Given the description of an element on the screen output the (x, y) to click on. 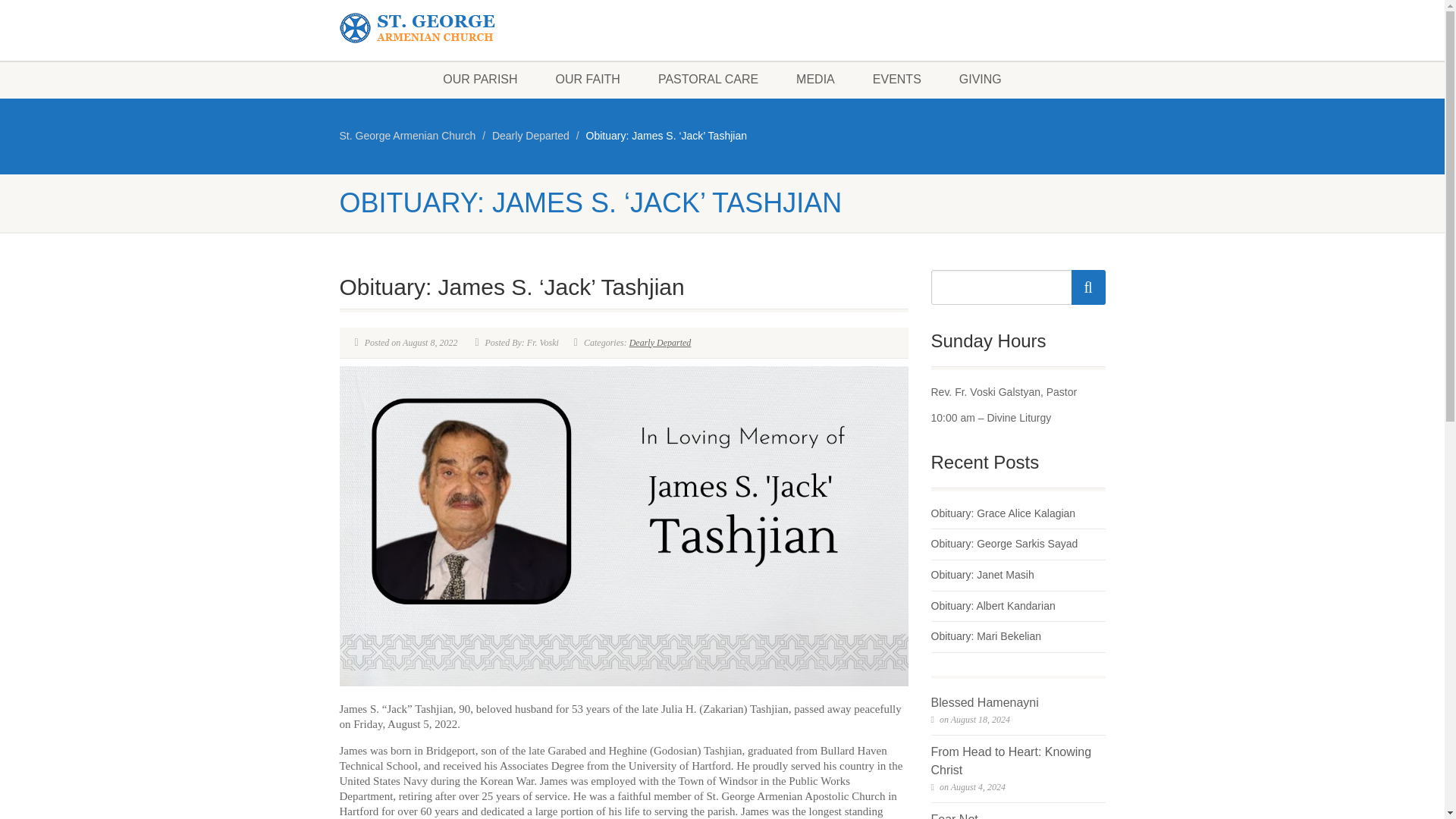
PASTORAL CARE (708, 79)
Logo (459, 28)
Go to St. George Armenian Church. (407, 135)
Go to the Dearly Departed category archives. (530, 135)
OUR FAITH (588, 79)
OUR PARISH (479, 79)
